Given the description of an element on the screen output the (x, y) to click on. 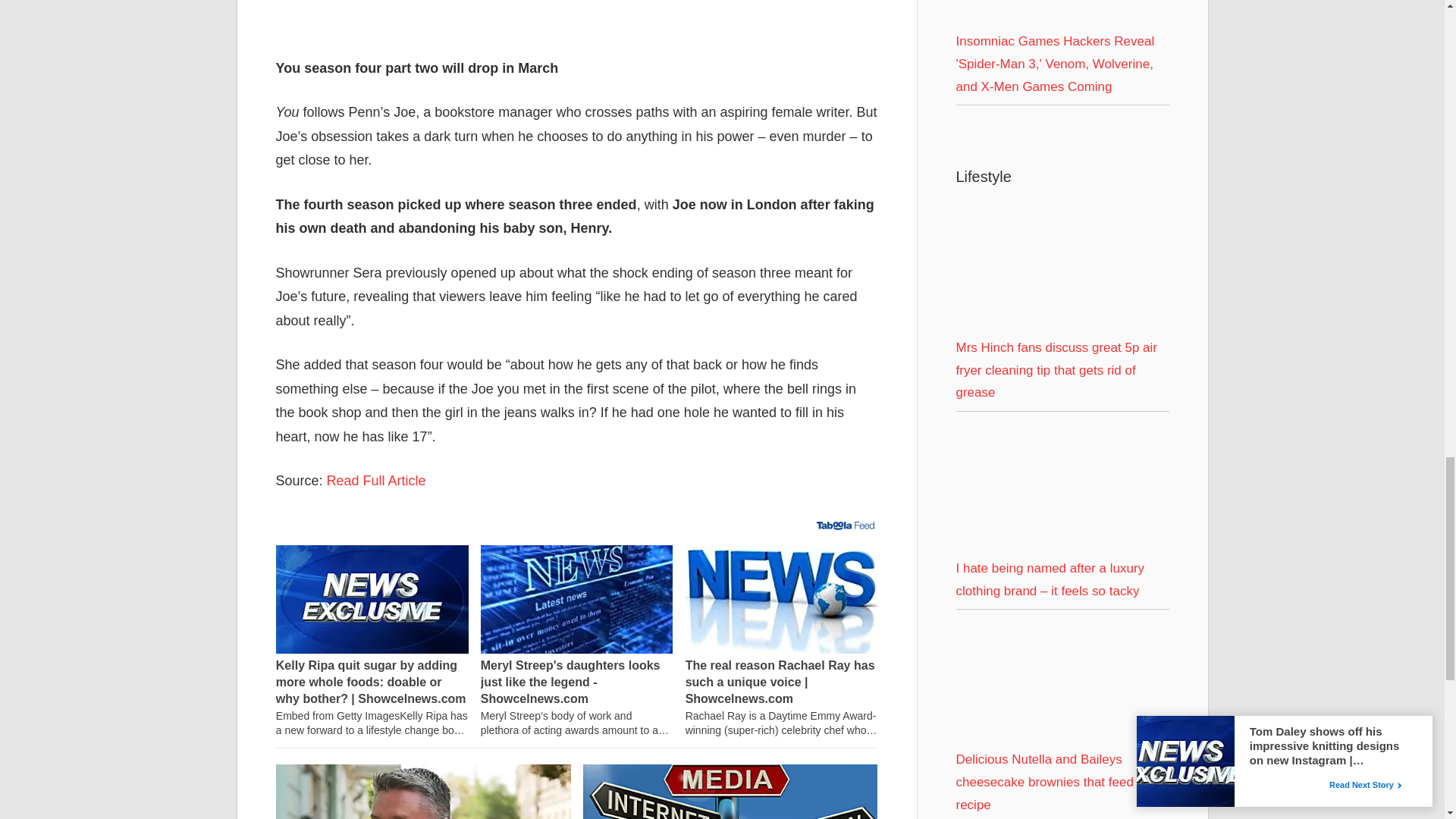
Read Full Article (376, 480)
